Given the description of an element on the screen output the (x, y) to click on. 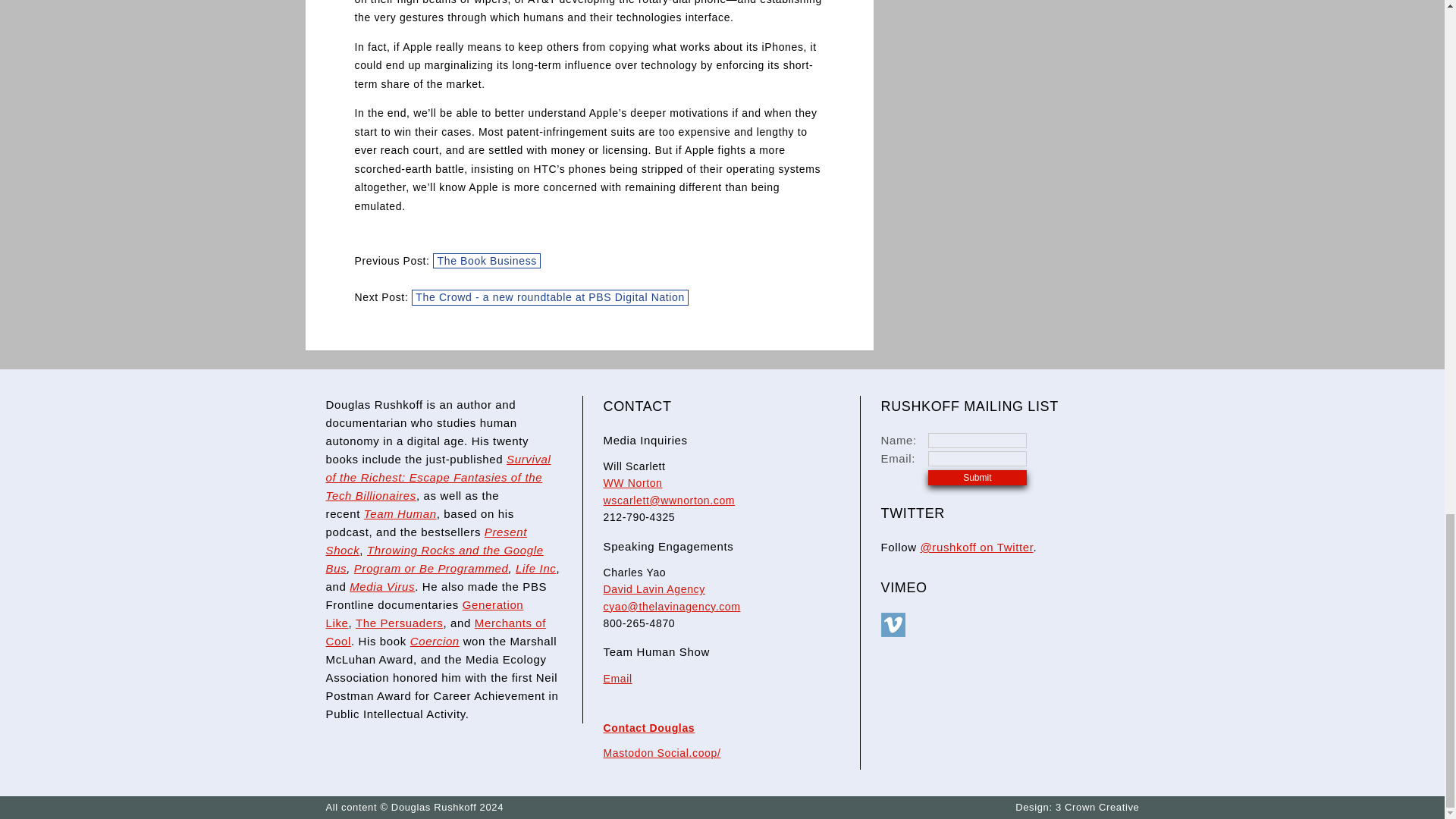
800-265-4870 (639, 623)
Life Inc (535, 567)
Program or Be Programmed (430, 567)
Throwing Rocks and the Google Bus (434, 558)
Generation Like (425, 613)
212-790-4325 (639, 517)
Contact Douglas (649, 727)
Present Shock (426, 540)
Submit (977, 477)
David Lavin Agency (654, 589)
Email (617, 678)
The Crowd - a new roundtable at PBS Digital Nation (550, 296)
The Persuaders (399, 622)
Coercion (435, 640)
